Given the description of an element on the screen output the (x, y) to click on. 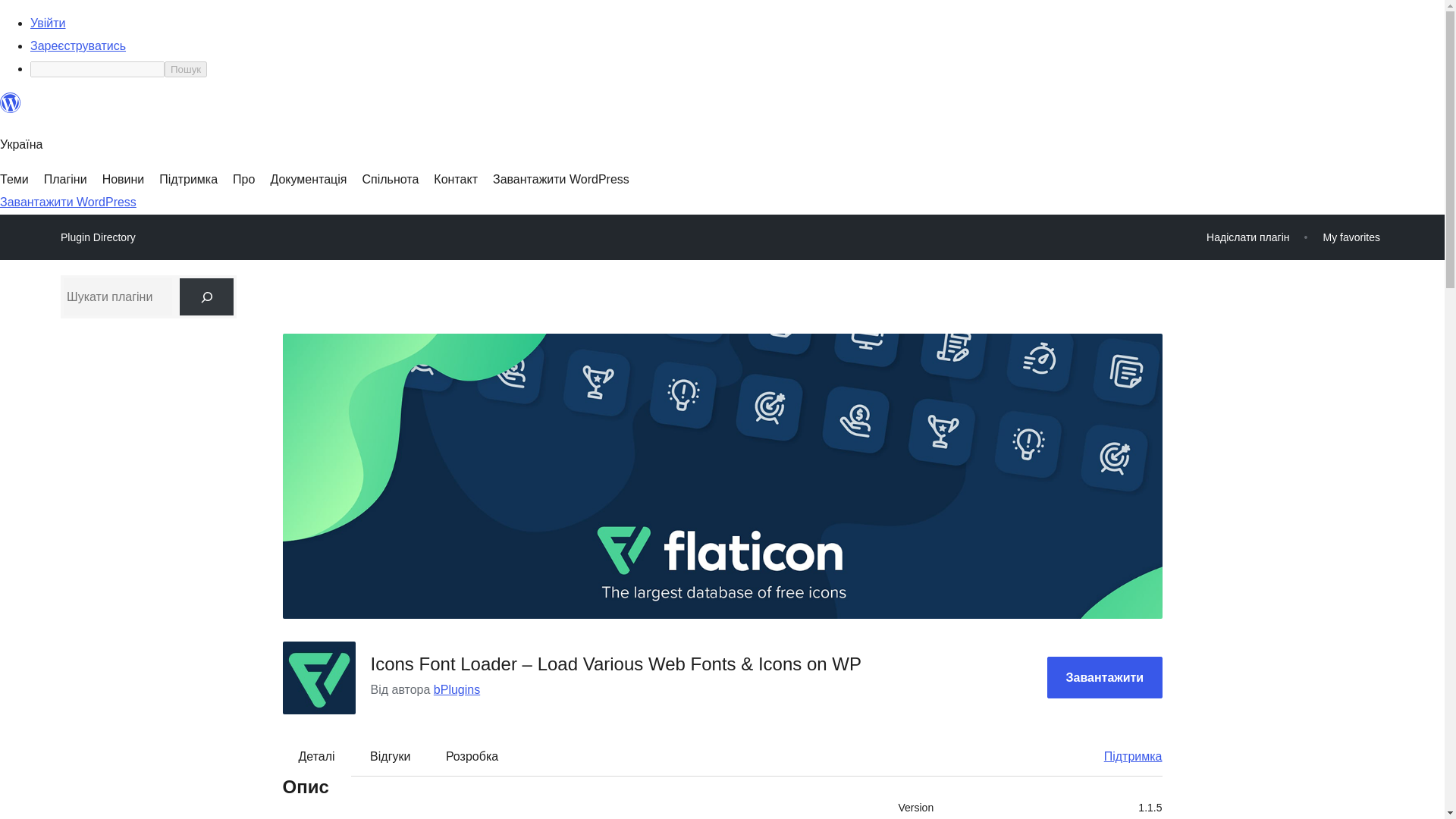
bPlugins (456, 689)
WordPress.org (10, 102)
Plugin Directory (97, 237)
My favorites (1351, 236)
WordPress.org (10, 109)
